Given the description of an element on the screen output the (x, y) to click on. 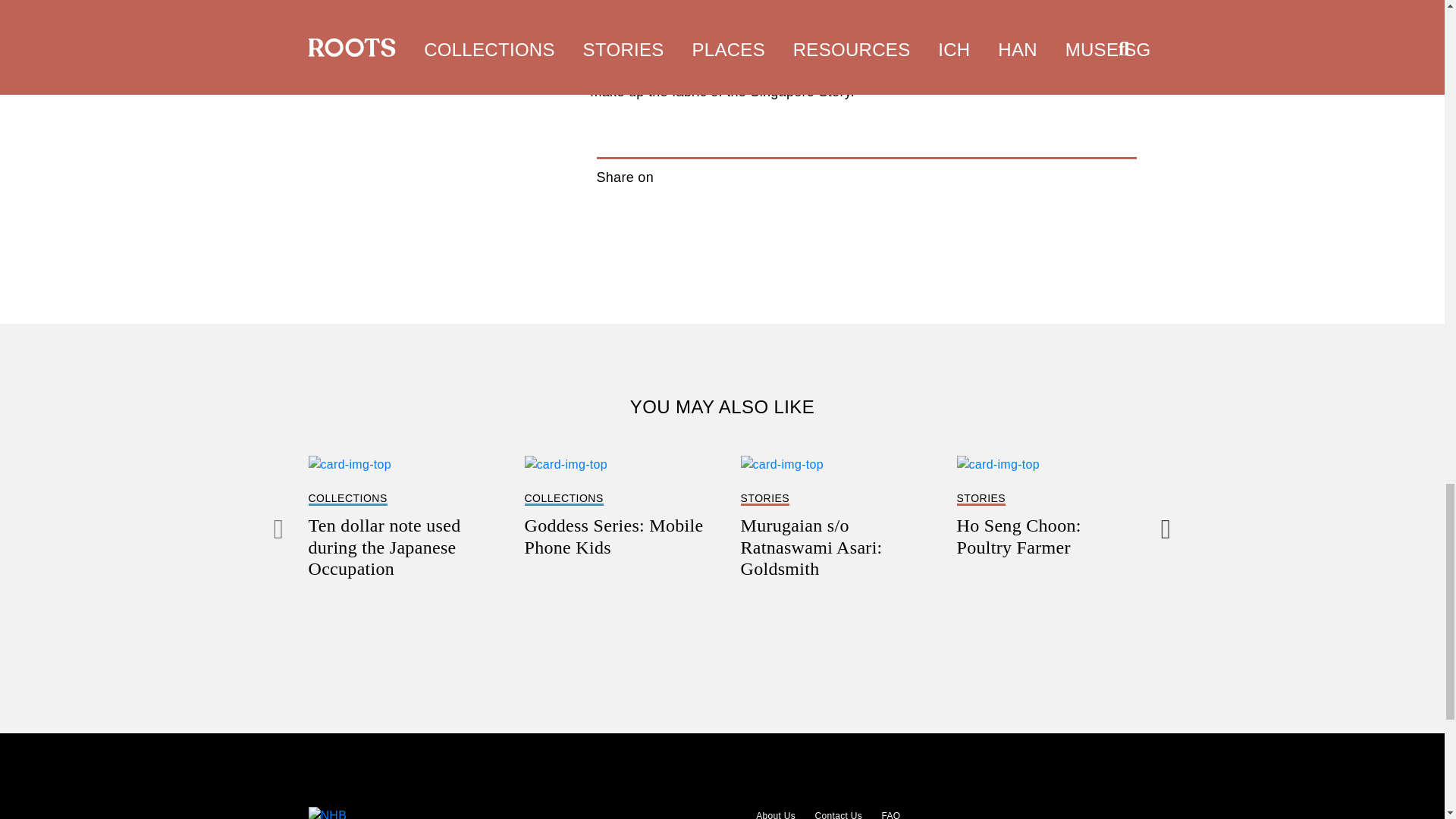
About Us (614, 506)
FAQ (769, 814)
Contact Us (886, 814)
